Given the description of an element on the screen output the (x, y) to click on. 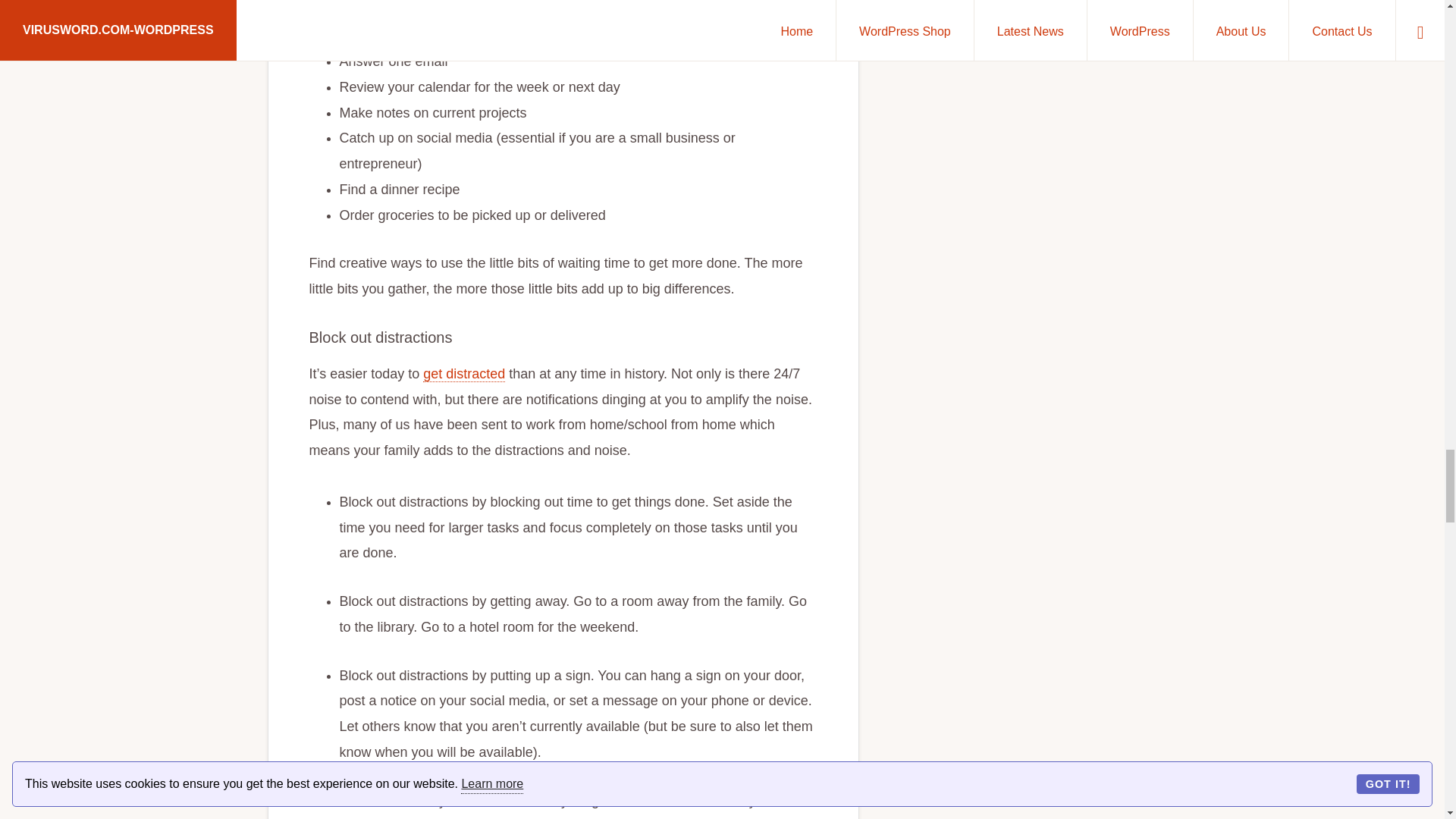
get distracted (464, 374)
